Given the description of an element on the screen output the (x, y) to click on. 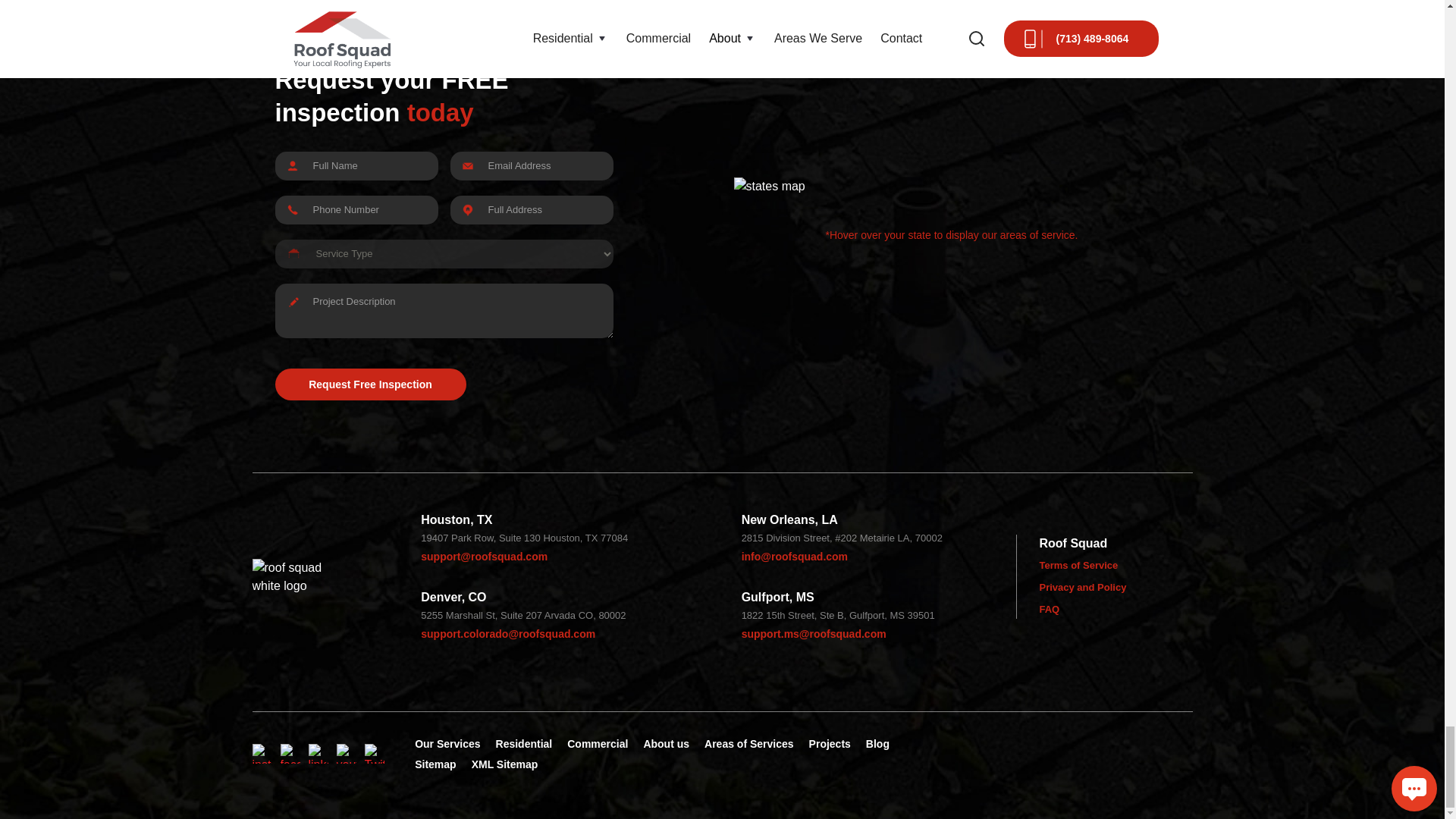
Request Free Inspection (370, 384)
